Given the description of an element on the screen output the (x, y) to click on. 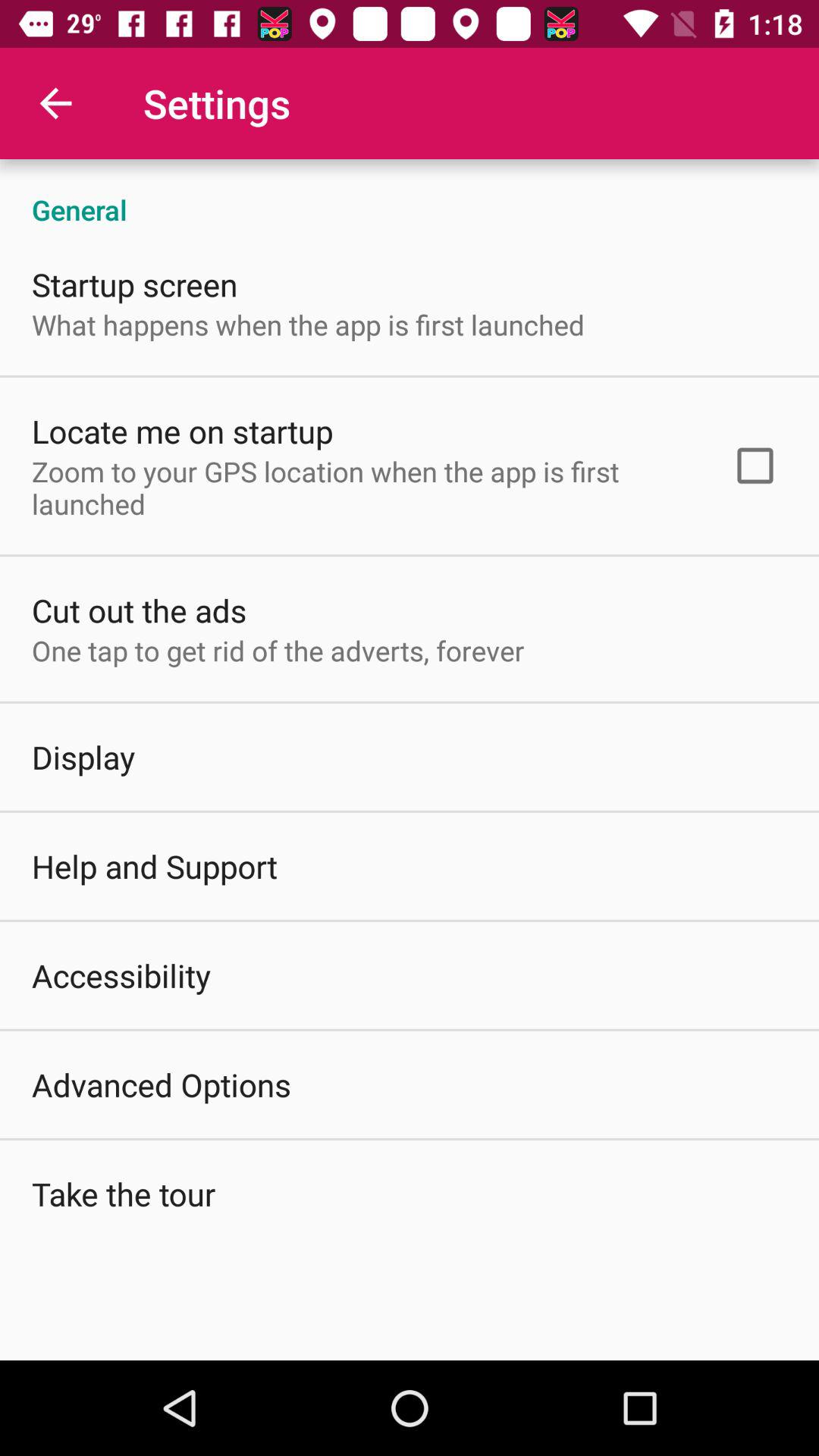
open locate me on icon (182, 430)
